Given the description of an element on the screen output the (x, y) to click on. 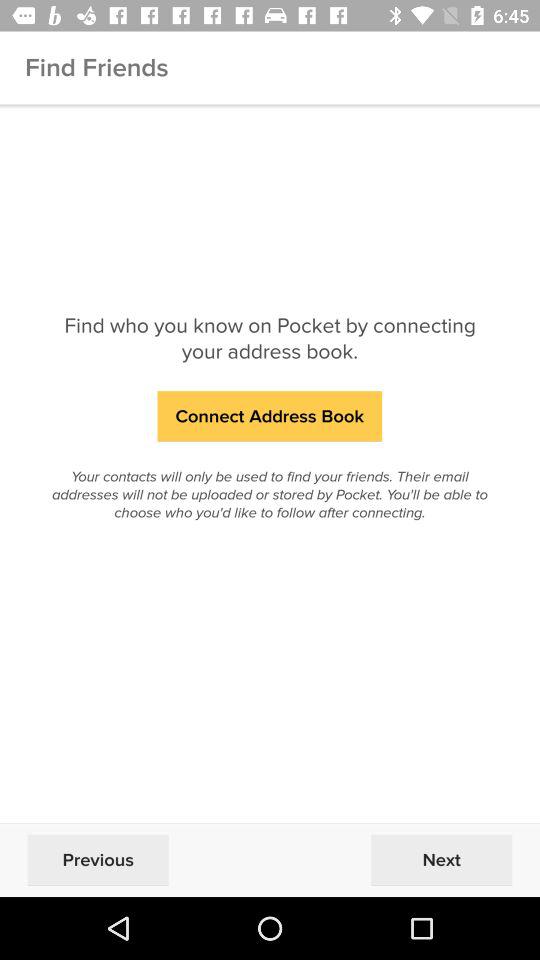
turn on the next at the bottom right corner (441, 859)
